Given the description of an element on the screen output the (x, y) to click on. 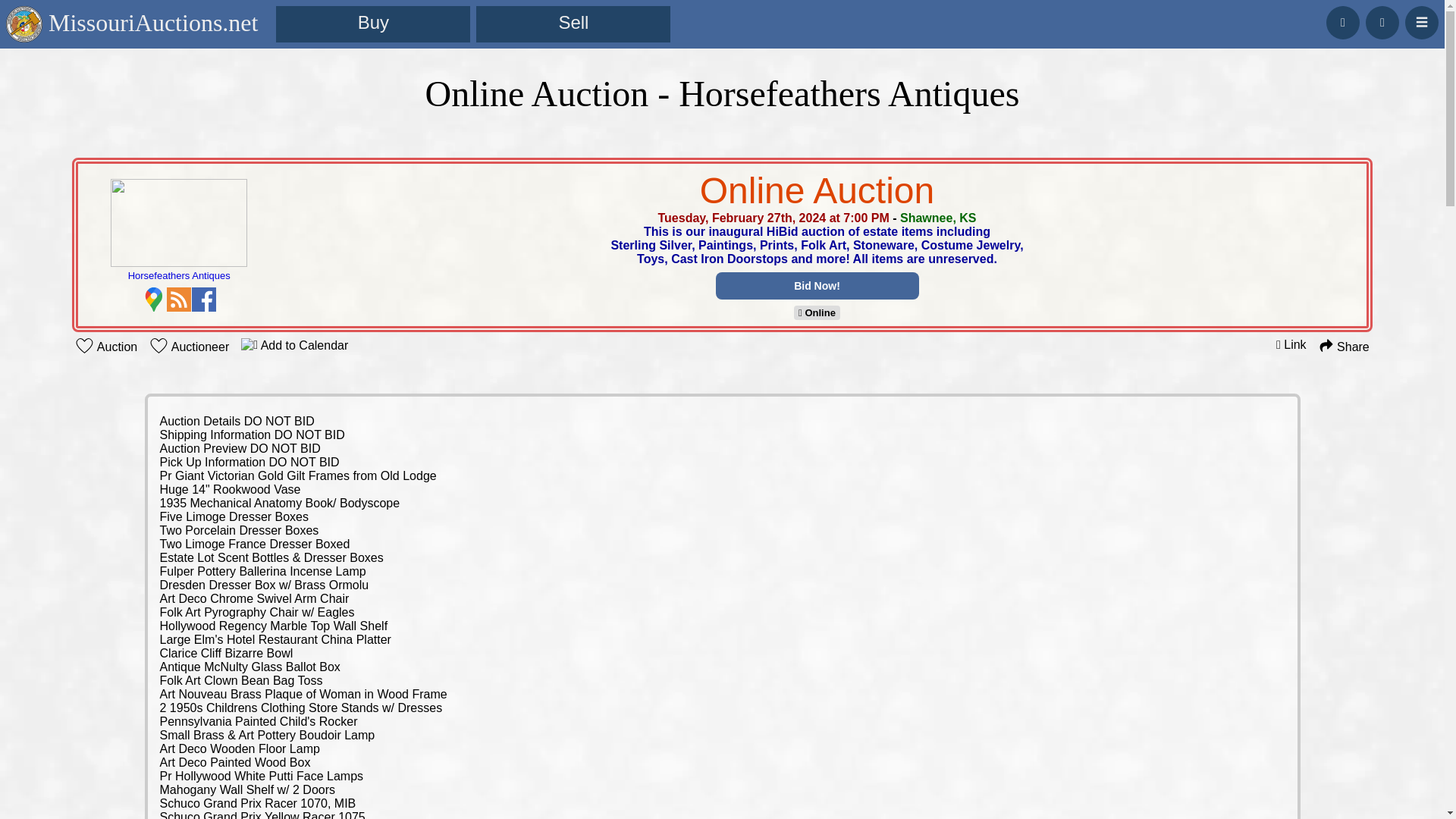
Subscribe to Horsefeathers Antiques by RSS (178, 298)
View full menu (1421, 22)
Add to Calendar (294, 344)
My account (1382, 22)
Search our website (1342, 22)
See Location on Google Maps (153, 298)
Sell (572, 23)
Horsefeathers Antiques on Facebook (203, 298)
Browse sale listings (373, 23)
Find a sale company (572, 23)
